Given the description of an element on the screen output the (x, y) to click on. 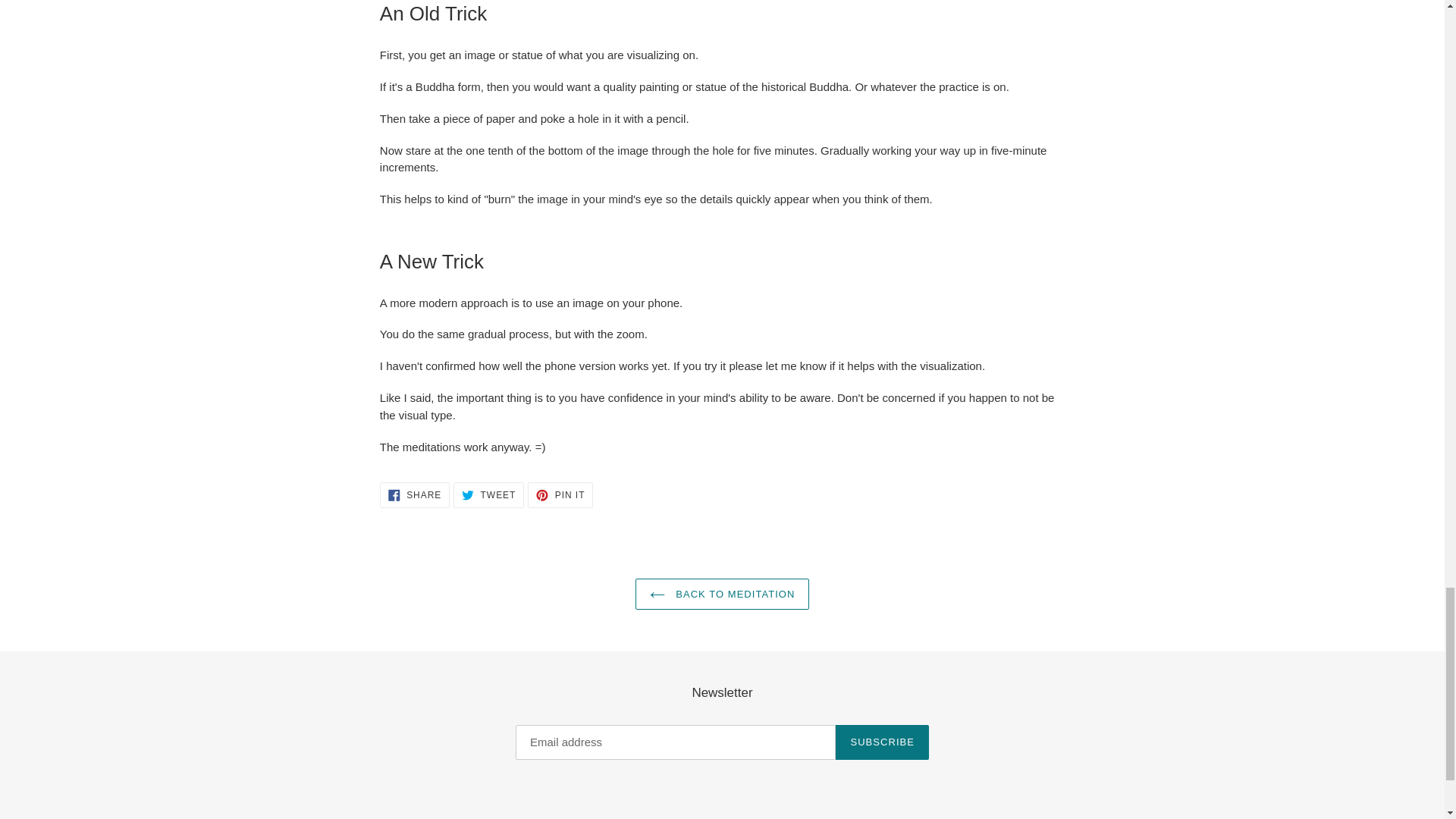
BACK TO MEDITATION (721, 594)
SUBSCRIBE (488, 494)
